Given the description of an element on the screen output the (x, y) to click on. 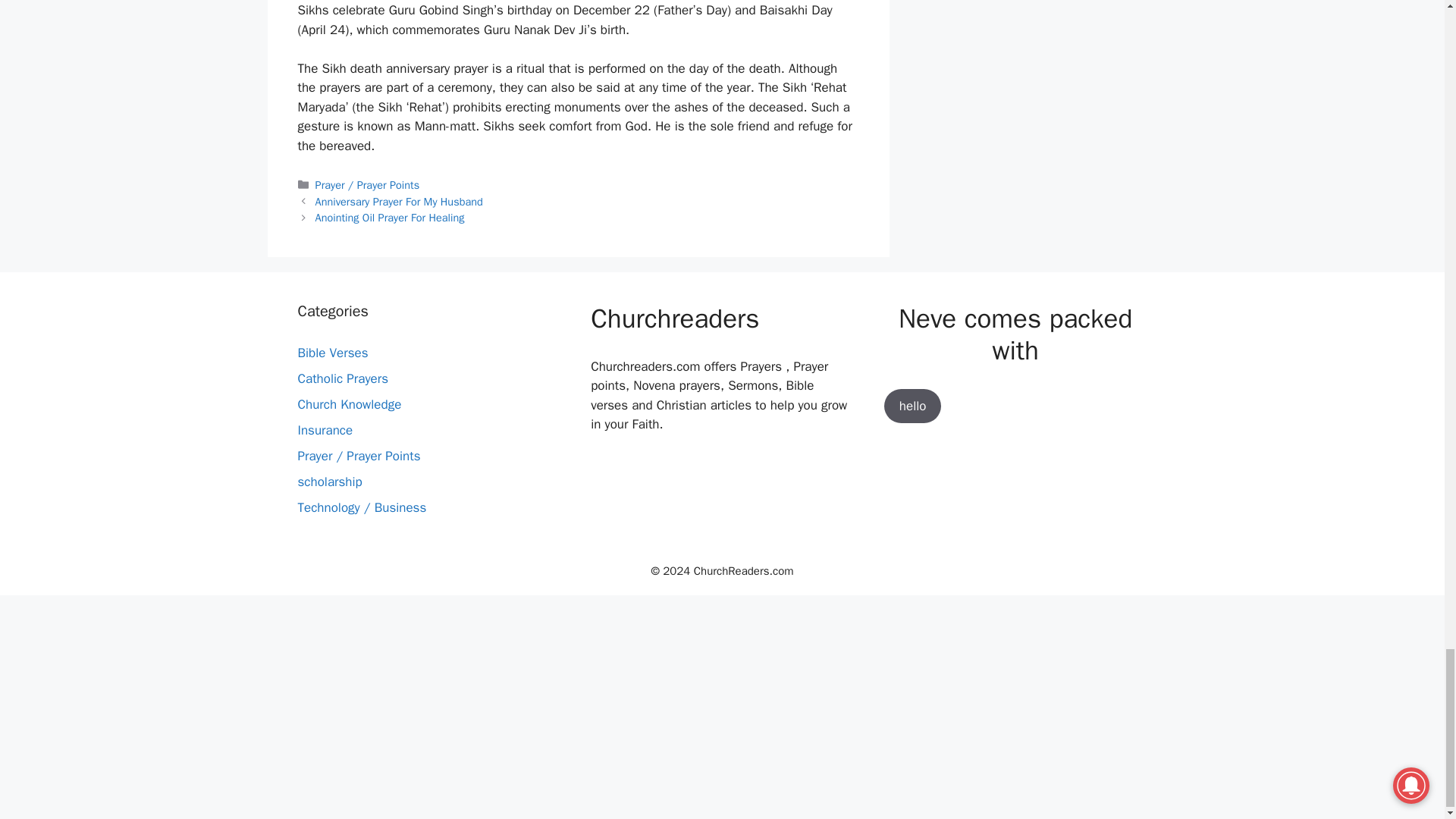
Bible Verses (332, 352)
Church Knowledge (349, 404)
Anointing Oil Prayer For Healing (389, 217)
Anniversary Prayer For My Husband (399, 201)
Insurance (324, 430)
Catholic Prayers (342, 378)
scholarship (329, 481)
